Given the description of an element on the screen output the (x, y) to click on. 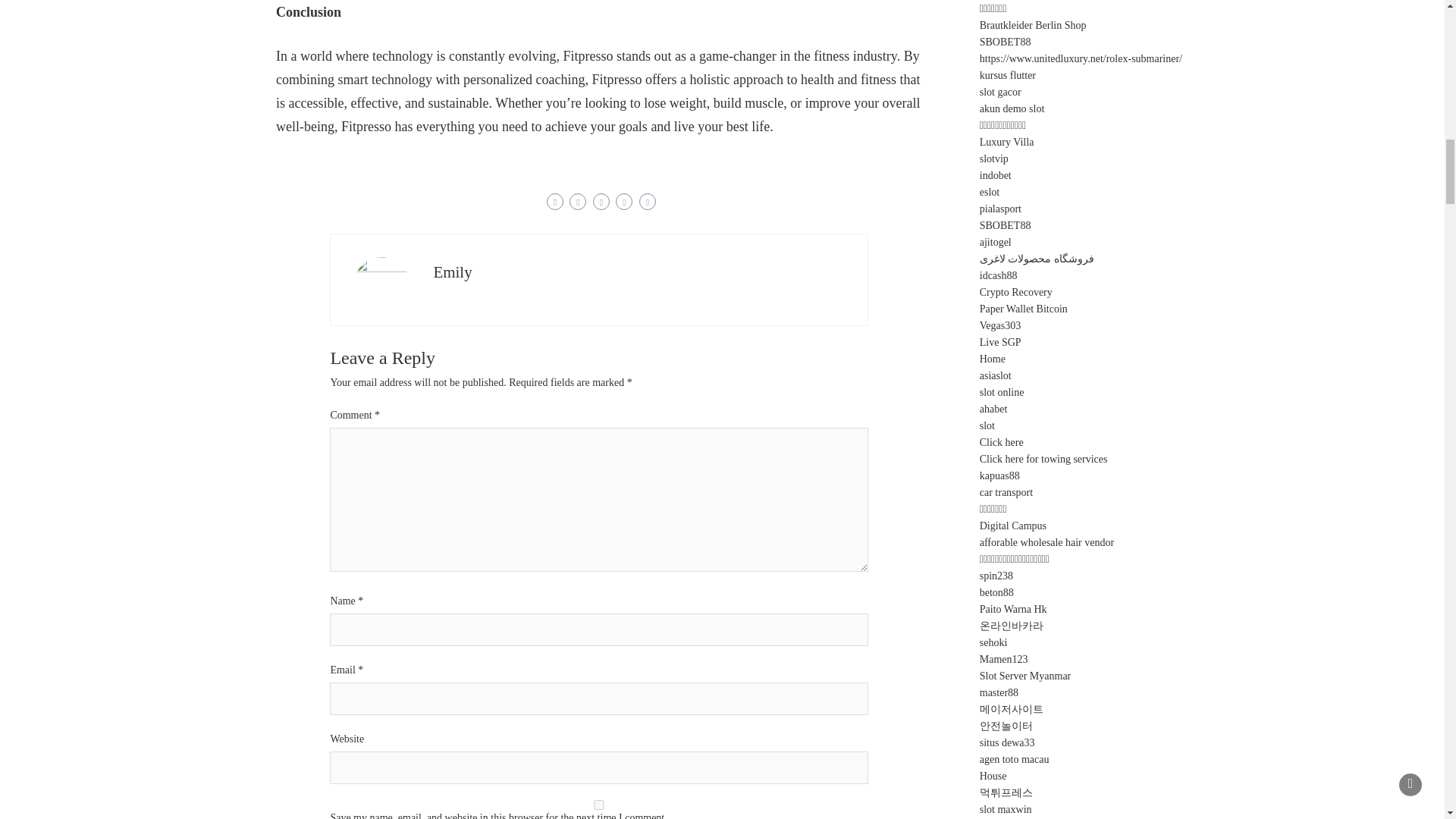
yes (598, 804)
Emily (451, 271)
